Given the description of an element on the screen output the (x, y) to click on. 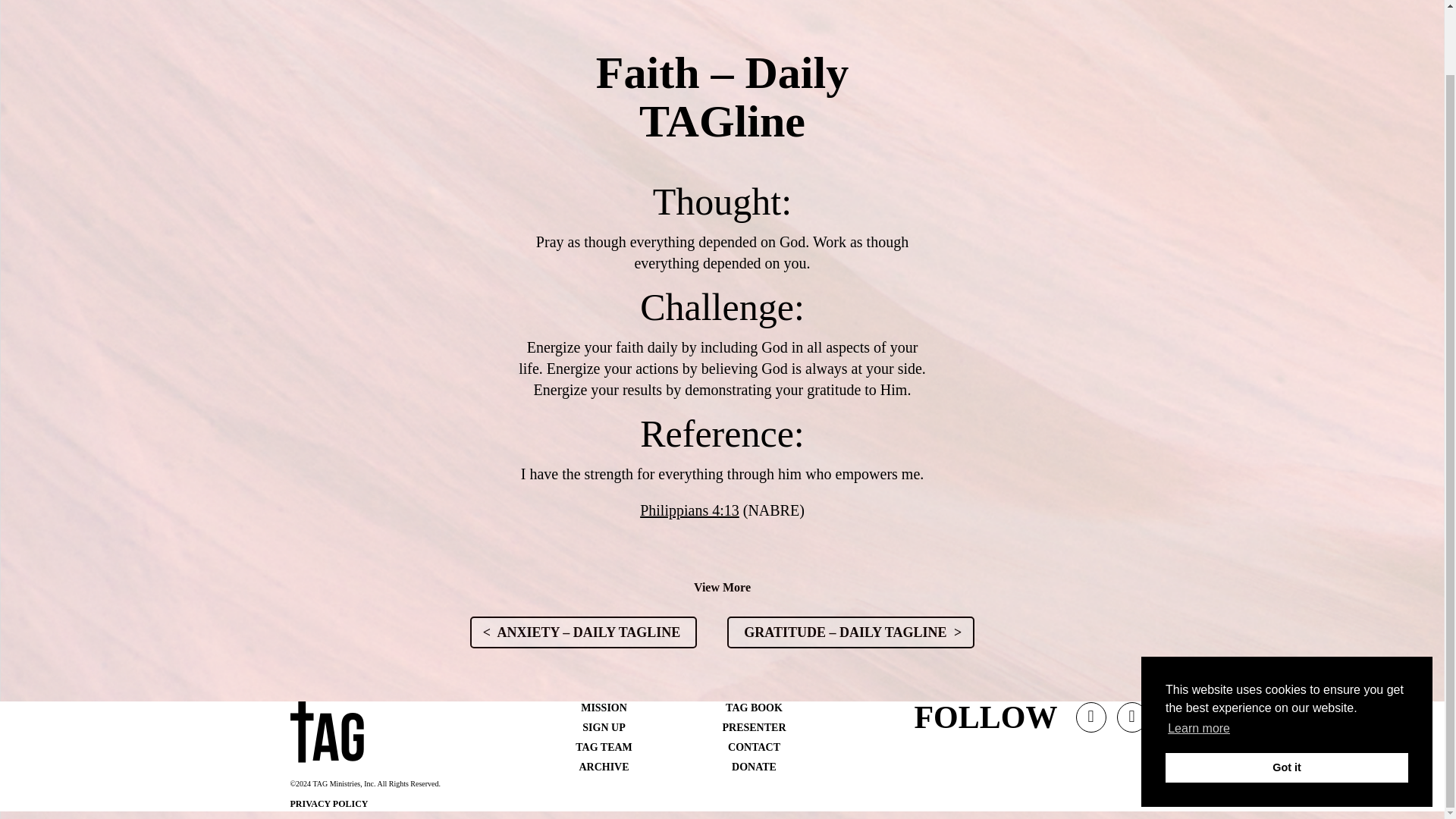
DONATE (754, 767)
MISSION (603, 707)
PRESENTER (754, 727)
Got it (1286, 695)
ARCHIVE (603, 767)
SIGN UP (603, 727)
TAG TEAM (603, 747)
Learn more (1198, 657)
PRIVACY POLICY (328, 803)
Twitter (1091, 722)
CONTACT (754, 747)
Philippians 4:13 (689, 510)
HOME (710, 3)
Facebook (1132, 722)
TAG BOOK (754, 707)
